Given the description of an element on the screen output the (x, y) to click on. 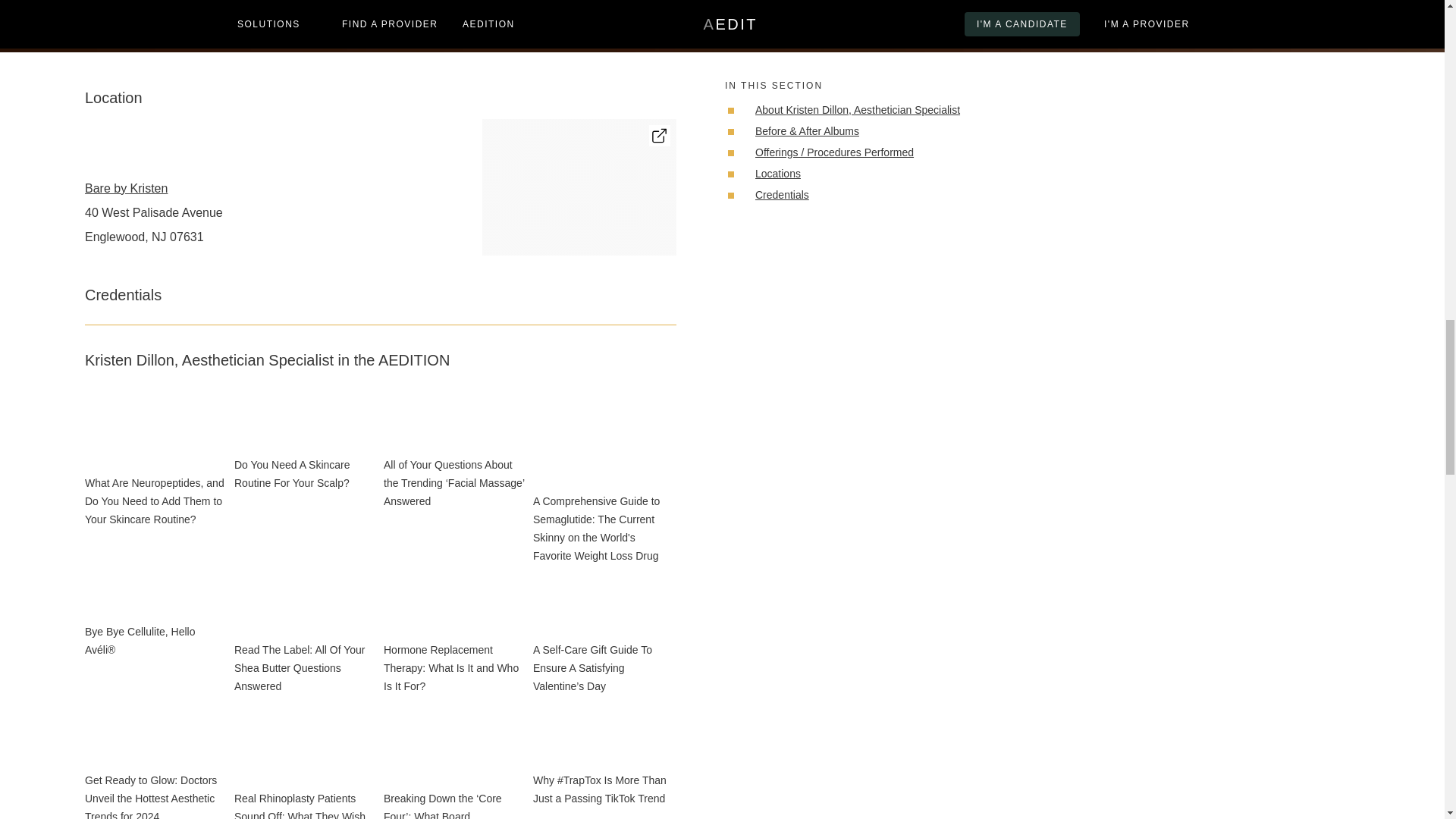
READ OUR TERMS AND CANCELLATION POLICY. (1218, 24)
Bare by Kristen (153, 188)
